Given the description of an element on the screen output the (x, y) to click on. 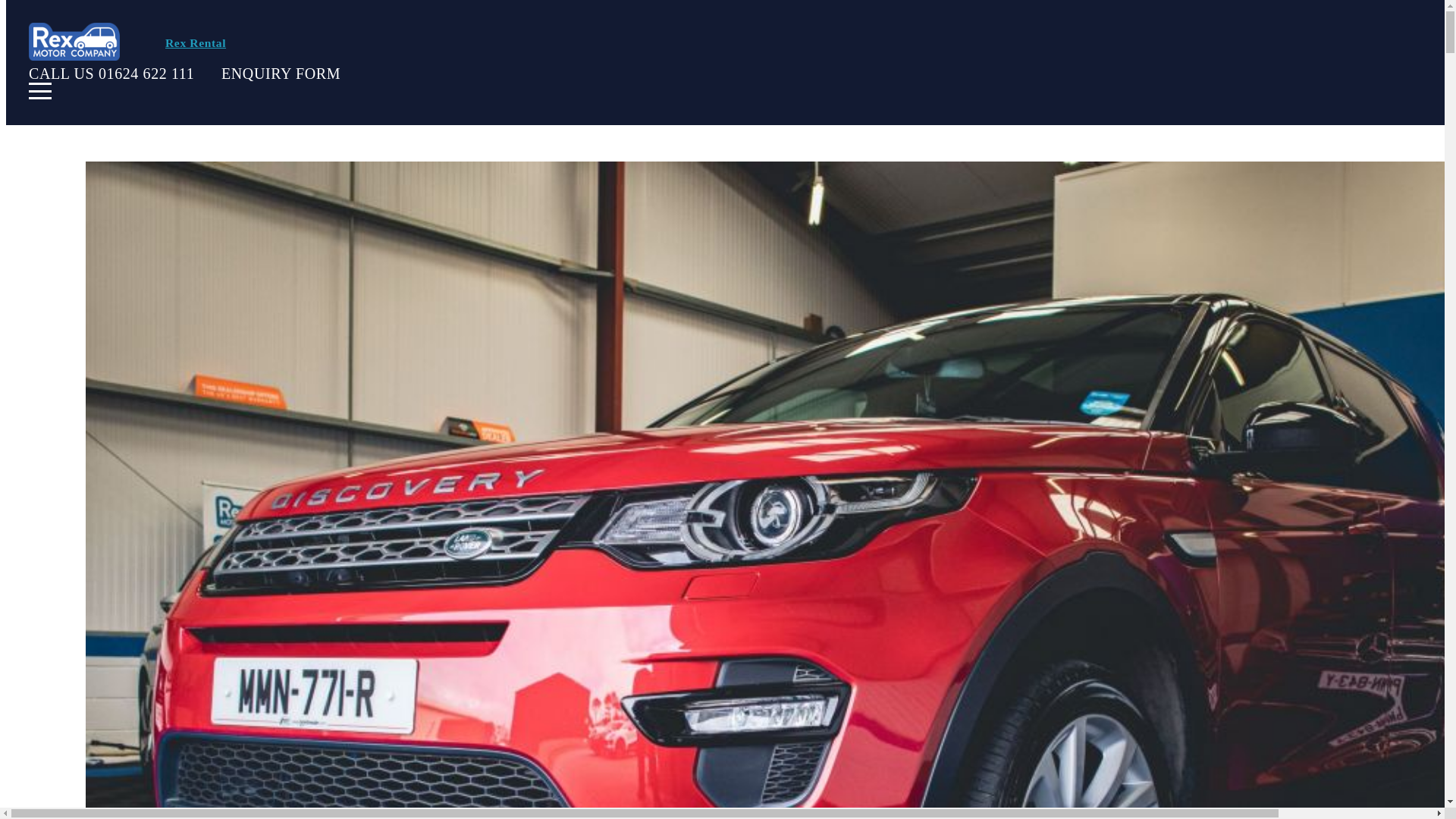
Rex Rental (195, 43)
ENQUIRY FORM (280, 73)
01624 622 111 (146, 73)
